Given the description of an element on the screen output the (x, y) to click on. 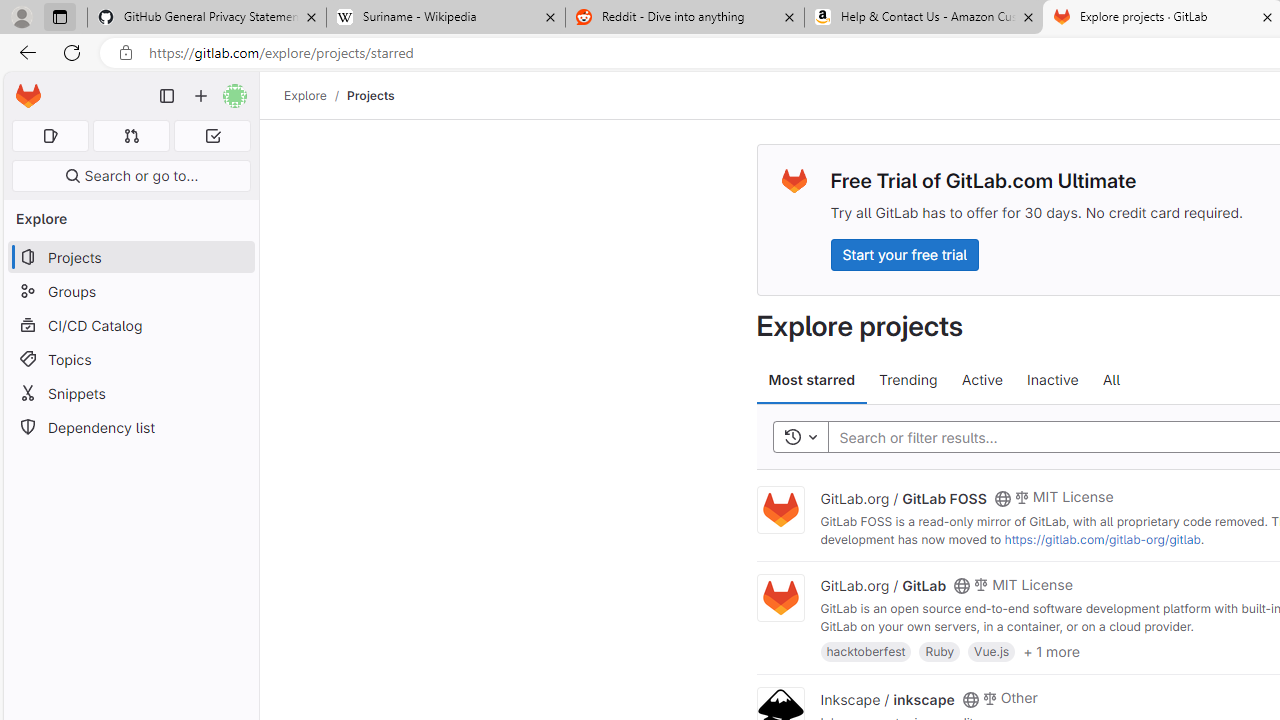
Class: project (780, 597)
Toggle history (800, 437)
GitLab.org / GitLab FOSS (903, 497)
Homepage (27, 96)
Explore/ (316, 95)
